Given the description of an element on the screen output the (x, y) to click on. 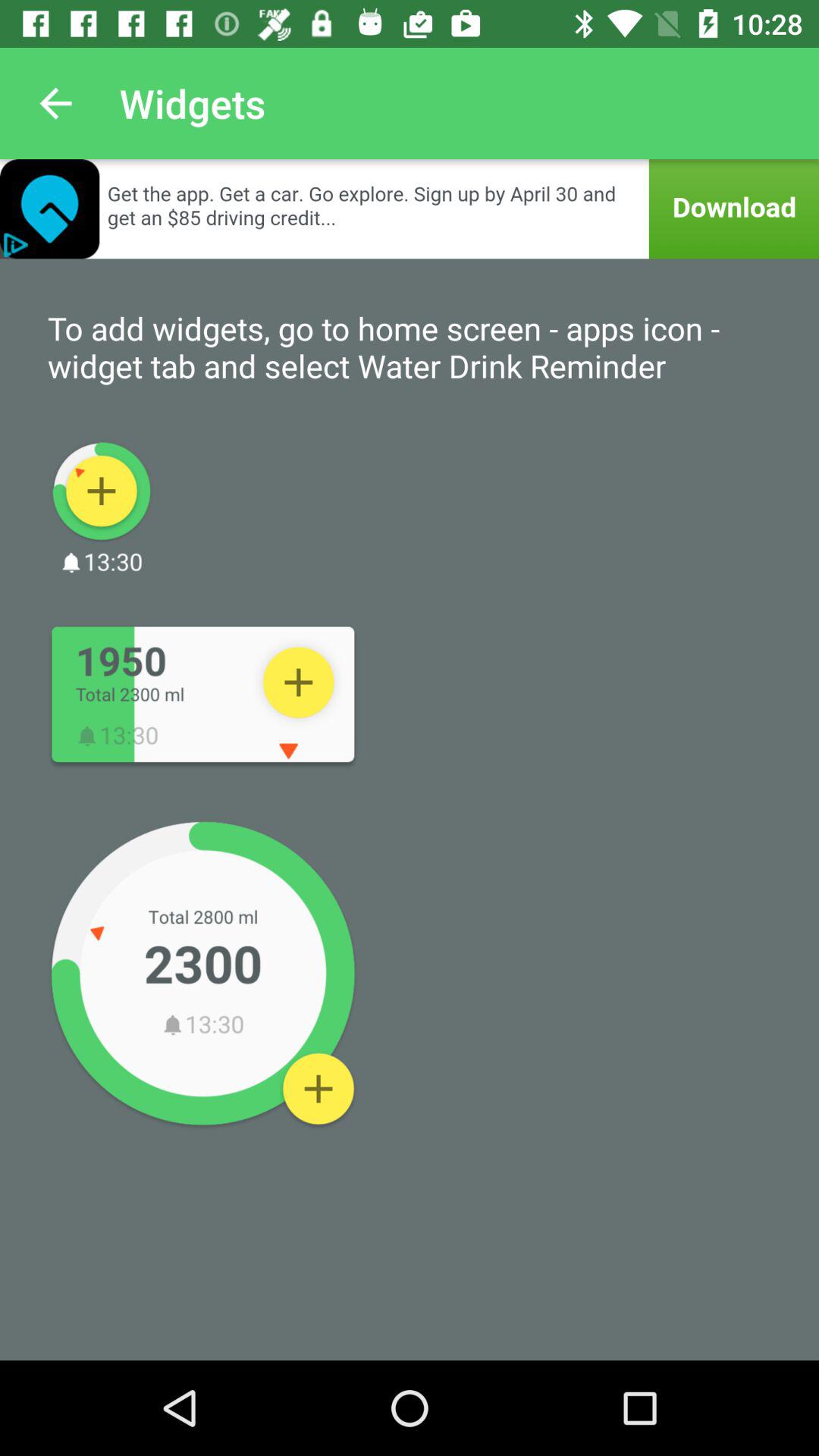
through an app that you are using a advert slots in at the top of the screen (409, 208)
